Given the description of an element on the screen output the (x, y) to click on. 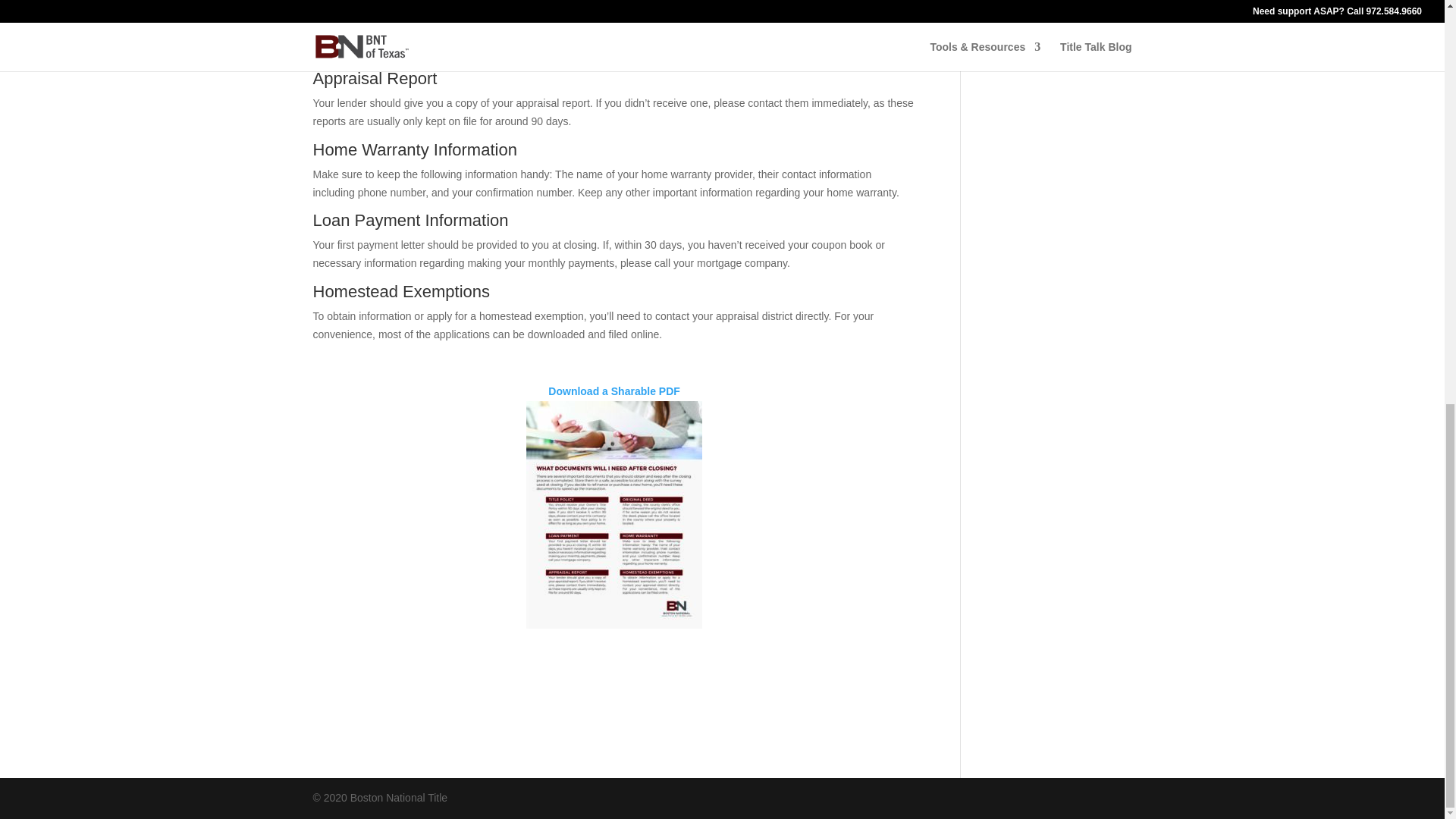
Entries feed (1012, 0)
Download a Sharable PDF (613, 390)
Comments feed (1021, 19)
WordPress.org (1019, 42)
